Given the description of an element on the screen output the (x, y) to click on. 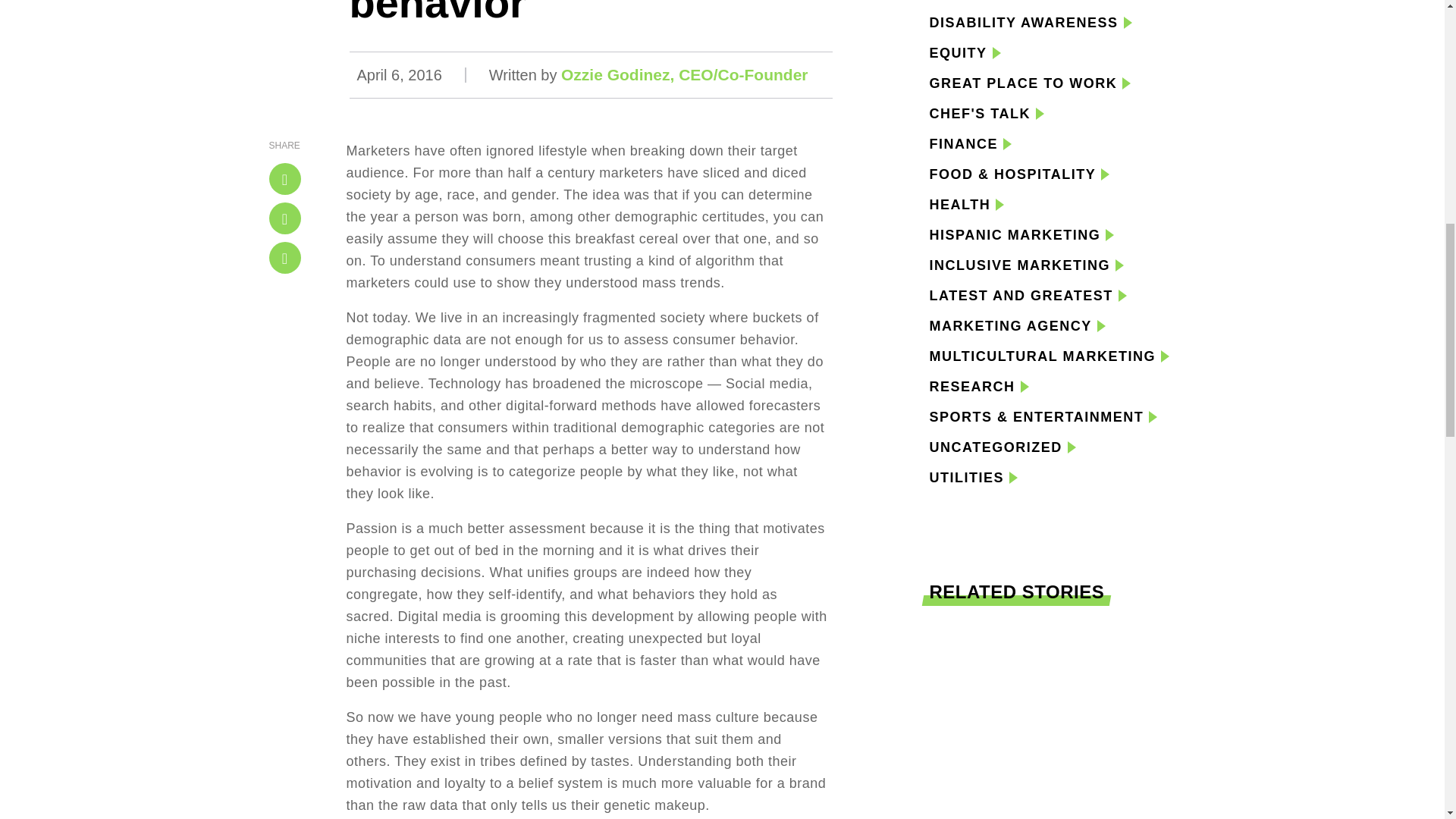
UTILITIES (967, 477)
INCLUSIVE MARKETING (1020, 265)
GREAT PLACE TO WORK (1024, 83)
EQUITY (958, 53)
HEALTH (960, 204)
FINANCE (964, 144)
LATEST AND GREATEST (1021, 295)
MARKETING AGENCY (1011, 325)
MULTICULTURAL MARKETING (1043, 356)
RESEARCH (972, 386)
UNCATEGORIZED (996, 447)
HISPANIC MARKETING (1015, 235)
CHEF'S TALK (980, 113)
DISABILITY AWARENESS (1024, 22)
